Given the description of an element on the screen output the (x, y) to click on. 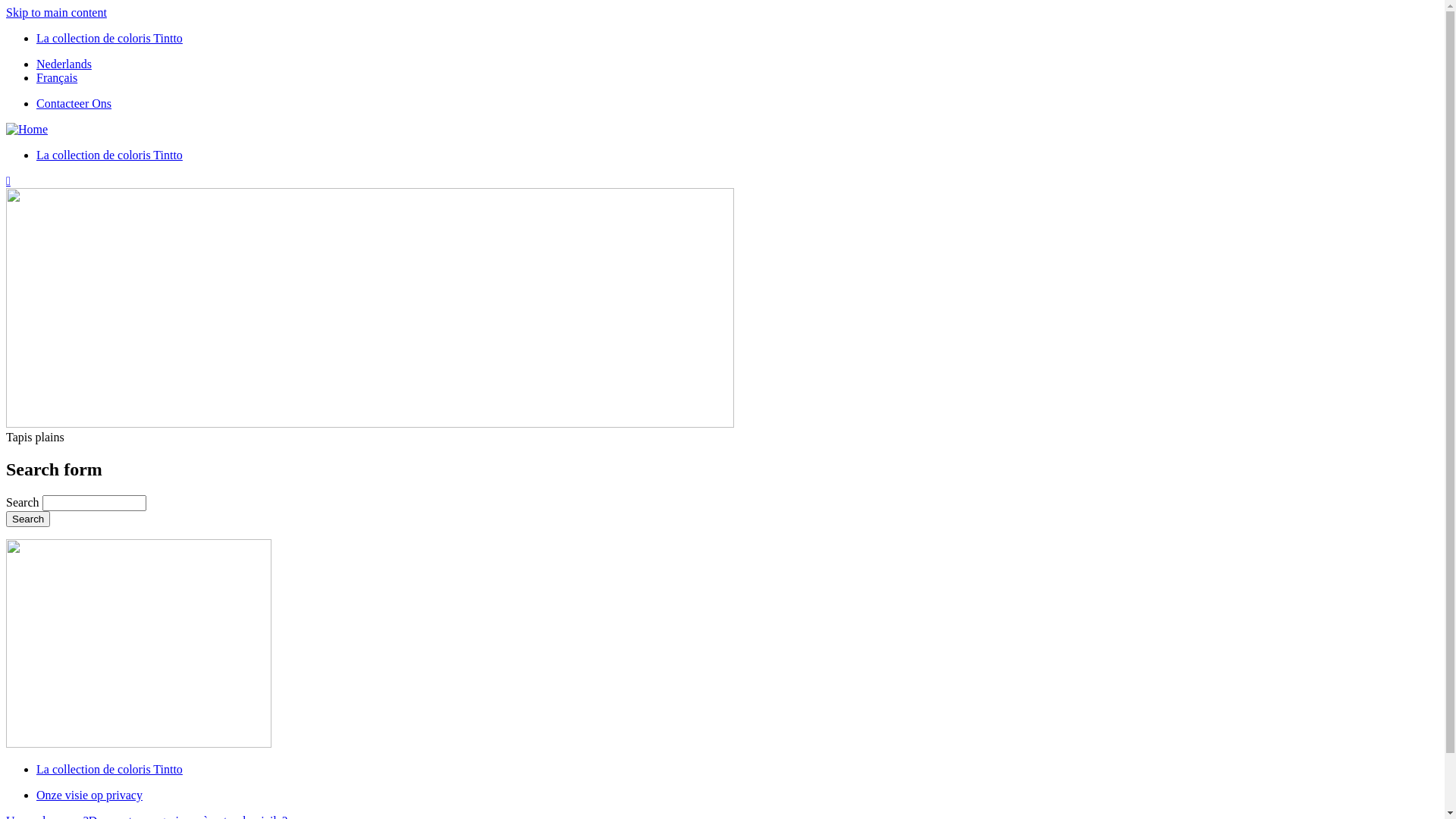
Home Element type: hover (26, 128)
Nederlands Element type: text (63, 63)
La collection de coloris Tintto Element type: text (109, 154)
Onze visie op privacy Element type: text (89, 794)
Search Element type: text (28, 519)
Enter the terms you wish to search for. Element type: hover (94, 503)
Contacteer Ons Element type: text (73, 103)
Skip to main content Element type: text (56, 12)
La collection de coloris Tintto Element type: text (109, 37)
La collection de coloris Tintto Element type: text (109, 768)
